Given the description of an element on the screen output the (x, y) to click on. 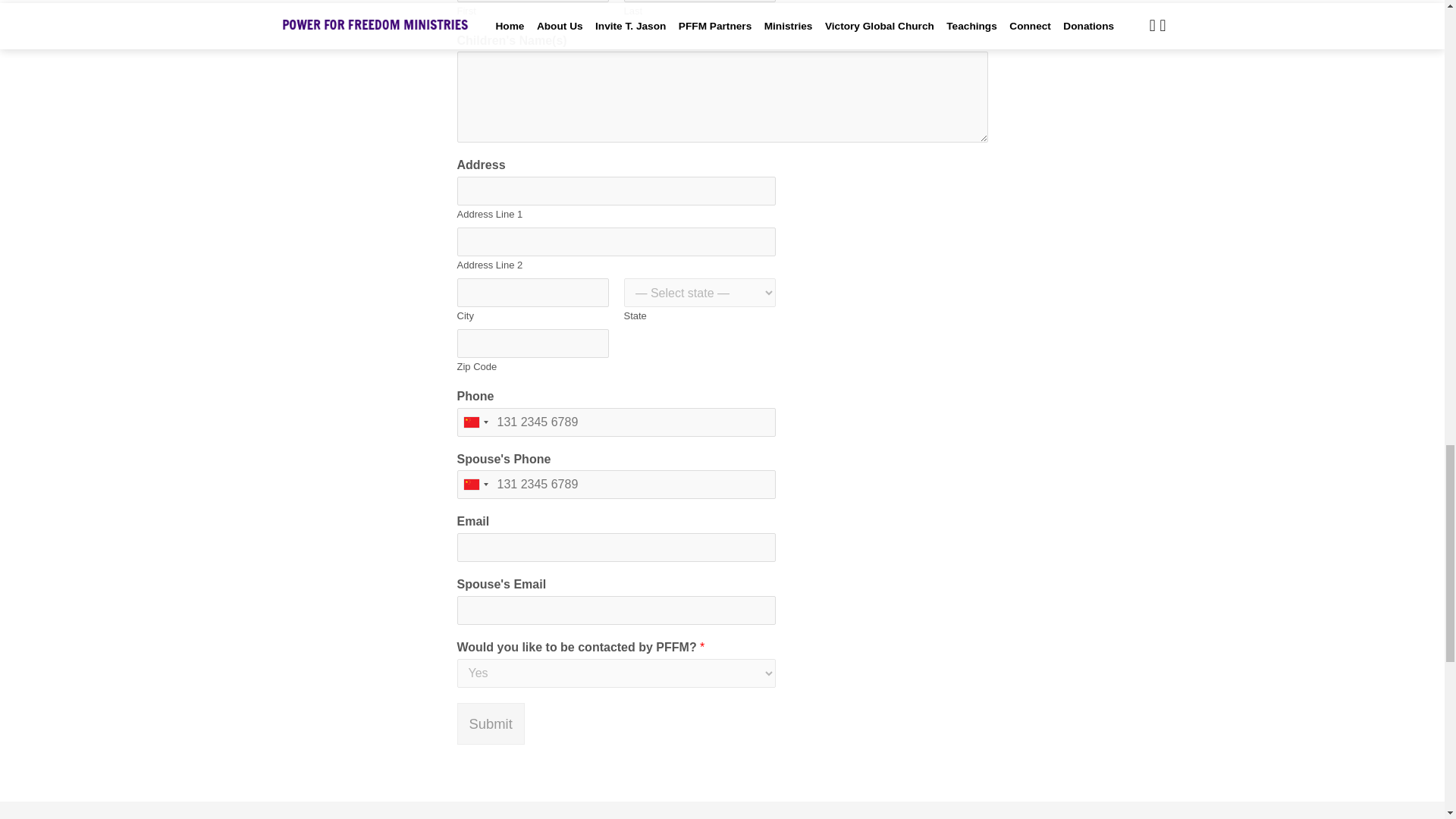
Submit (490, 723)
